Given the description of an element on the screen output the (x, y) to click on. 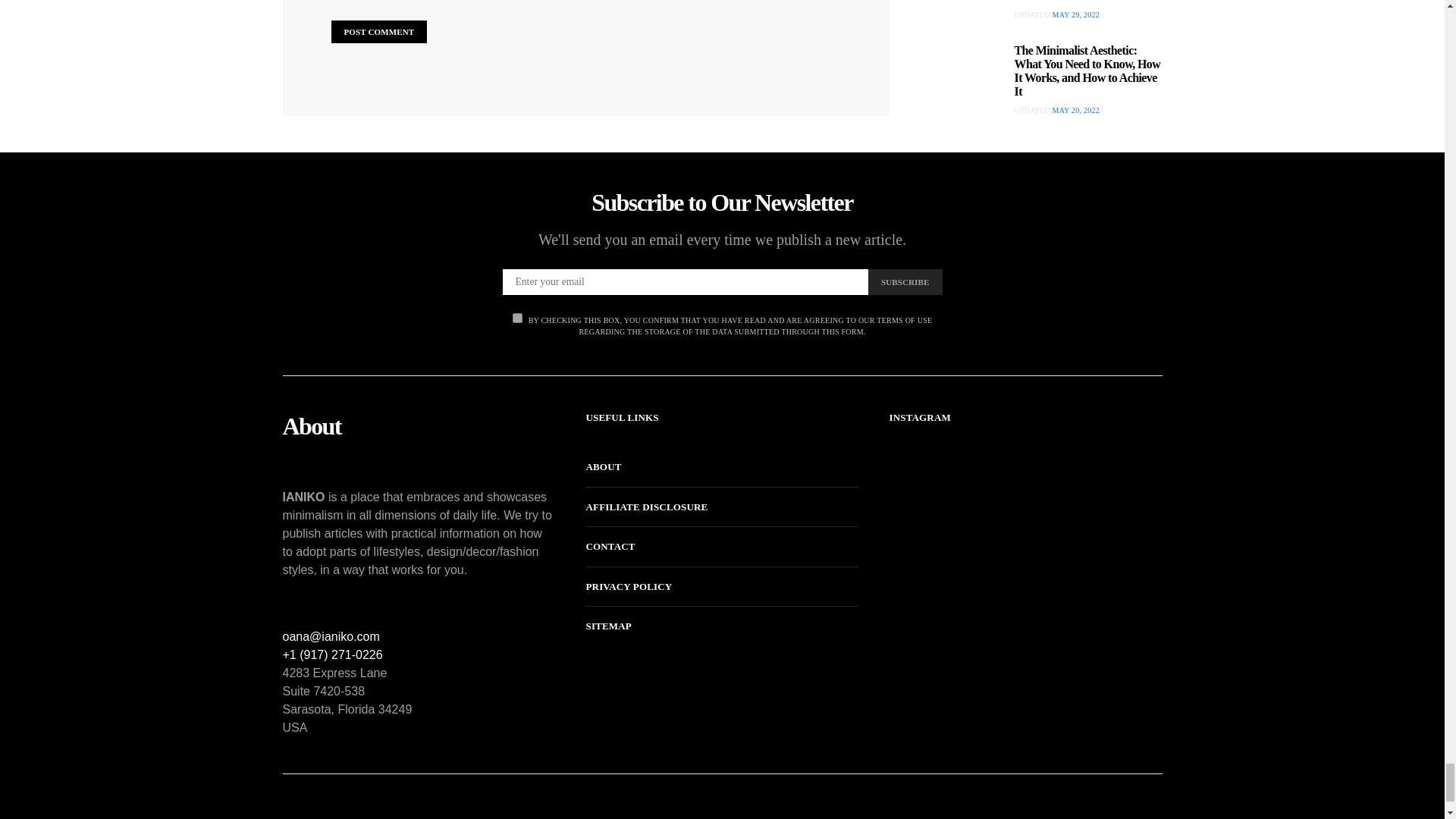
on (517, 317)
Post Comment (378, 32)
